Given the description of an element on the screen output the (x, y) to click on. 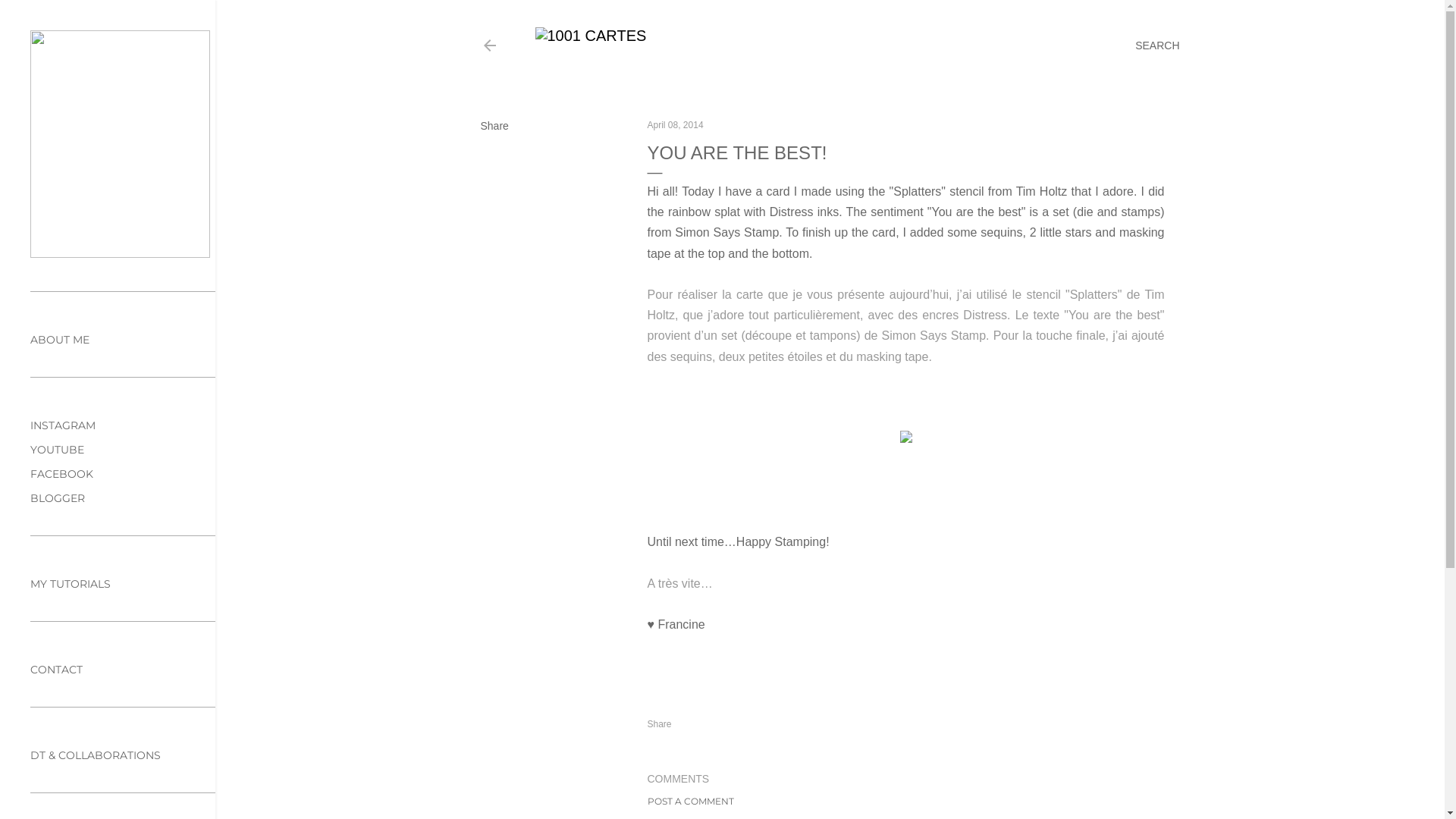
MY TUTORIALS Element type: text (70, 583)
April 08, 2014 Element type: text (675, 124)
CONTACT Element type: text (56, 669)
INSTAGRAM Element type: text (62, 425)
FACEBOOK Element type: text (61, 473)
SEARCH Element type: text (1157, 45)
Share Element type: text (494, 125)
Share Element type: text (659, 723)
POST A COMMENT Element type: text (690, 800)
BLOGGER Element type: text (57, 498)
ABOUT ME Element type: text (59, 339)
DT & COLLABORATIONS Element type: text (95, 755)
YOUTUBE Element type: text (57, 449)
